Given the description of an element on the screen output the (x, y) to click on. 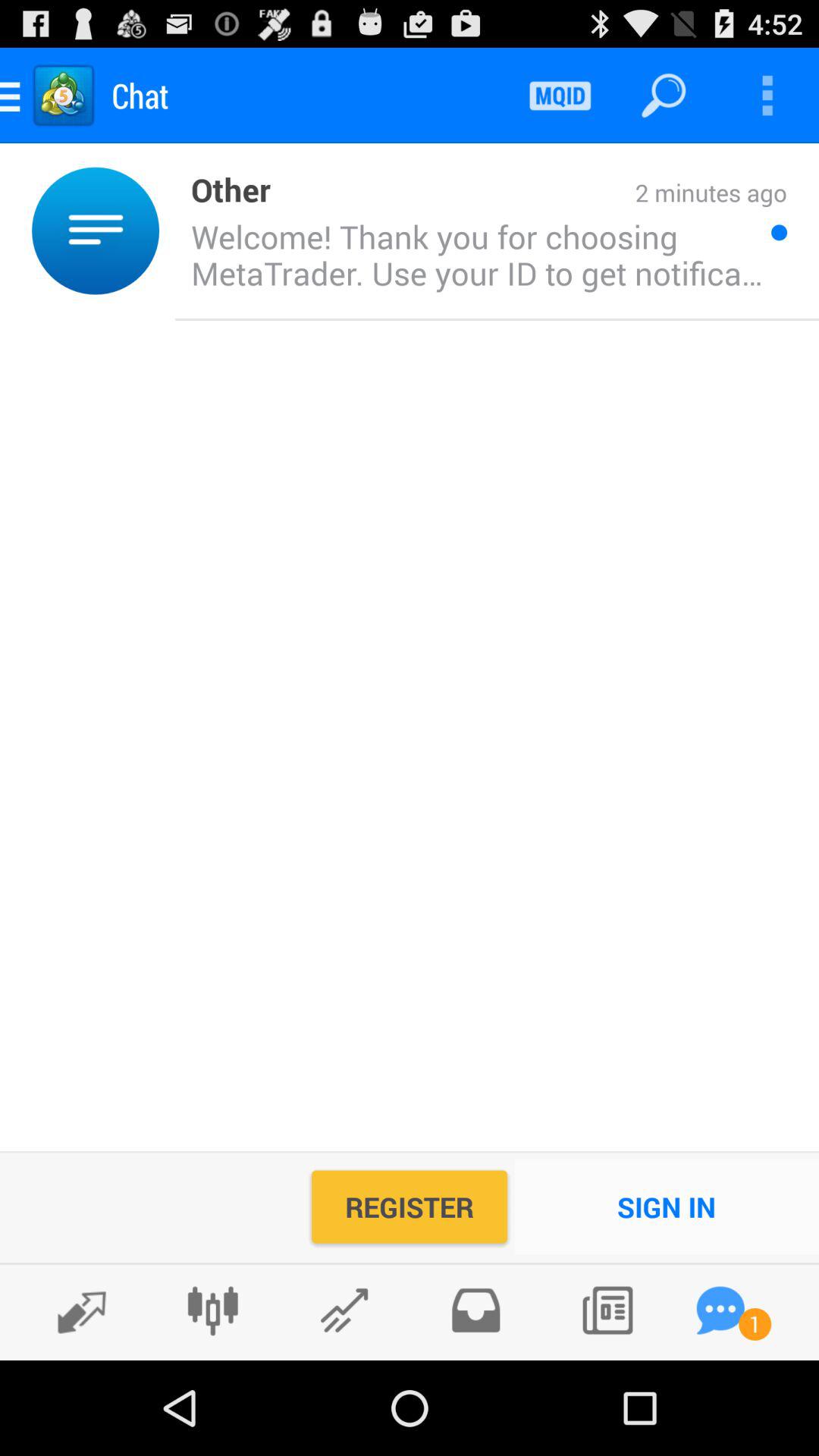
go to settings (212, 1310)
